Given the description of an element on the screen output the (x, y) to click on. 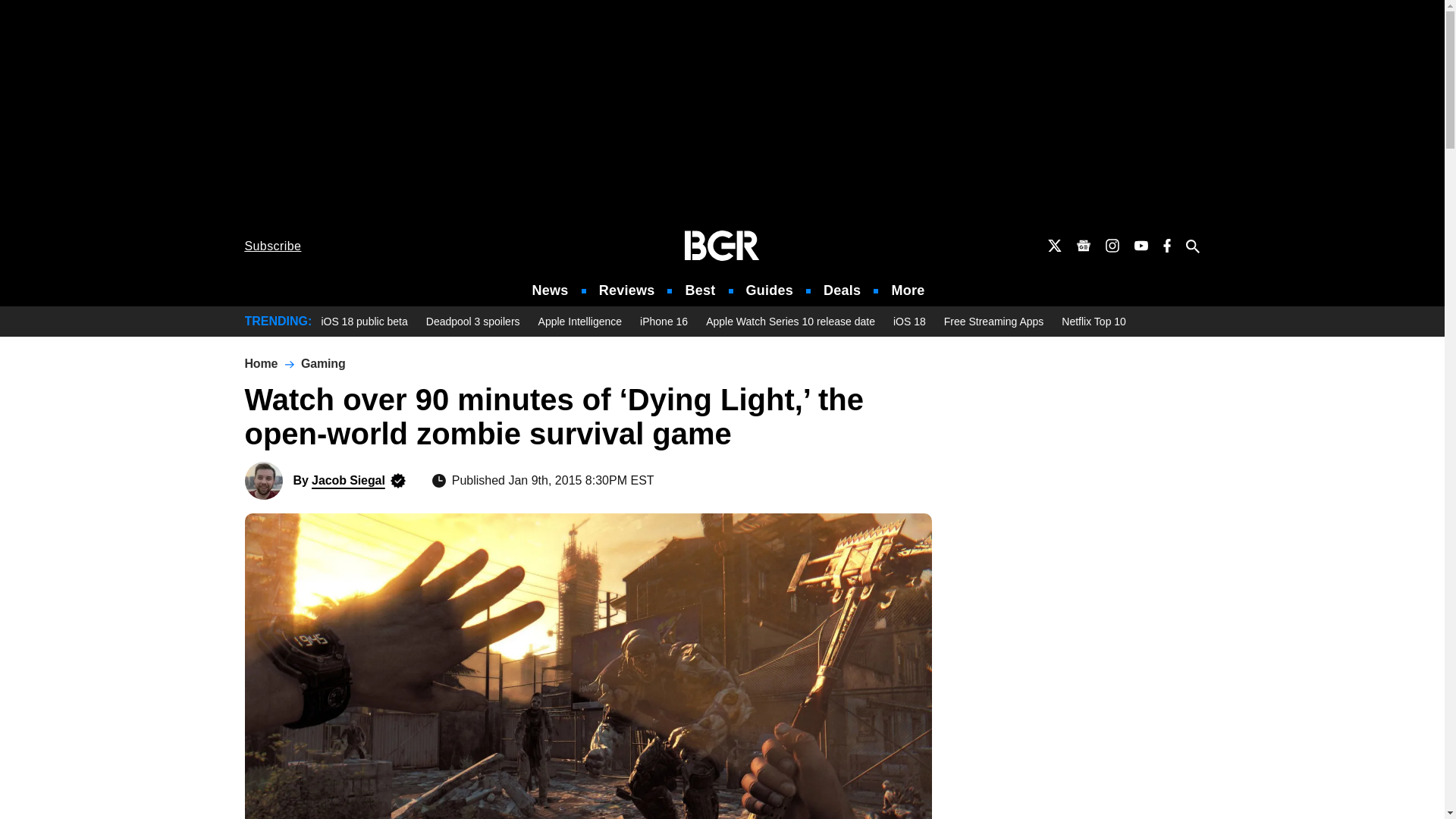
Best (699, 290)
News (550, 290)
Guides (769, 290)
Deals (842, 290)
Posts by Jacob Siegal (348, 480)
Reviews (626, 290)
Subscribe (272, 245)
More (907, 290)
